Given the description of an element on the screen output the (x, y) to click on. 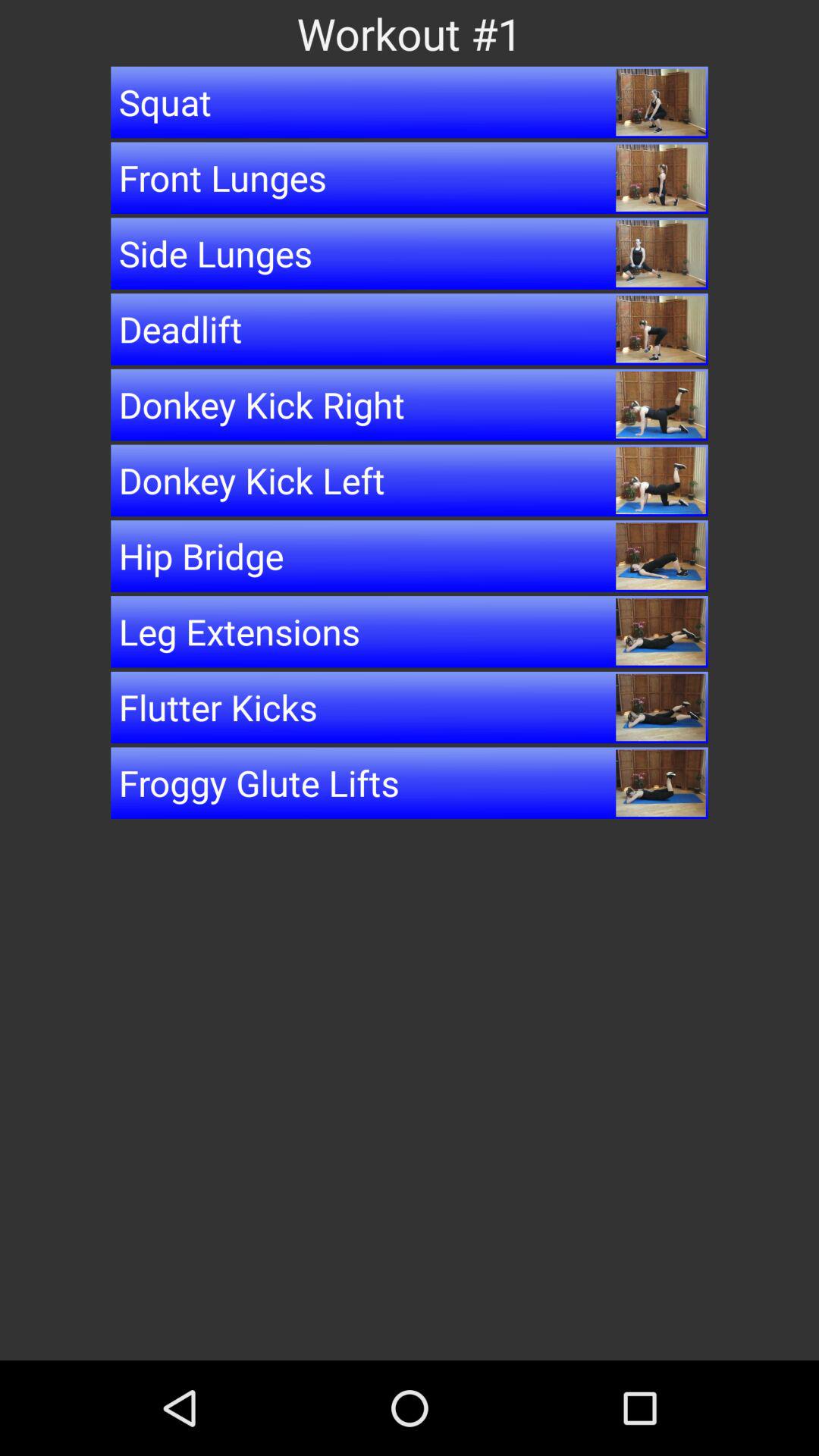
choose the app below the workout #1 app (409, 102)
